Given the description of an element on the screen output the (x, y) to click on. 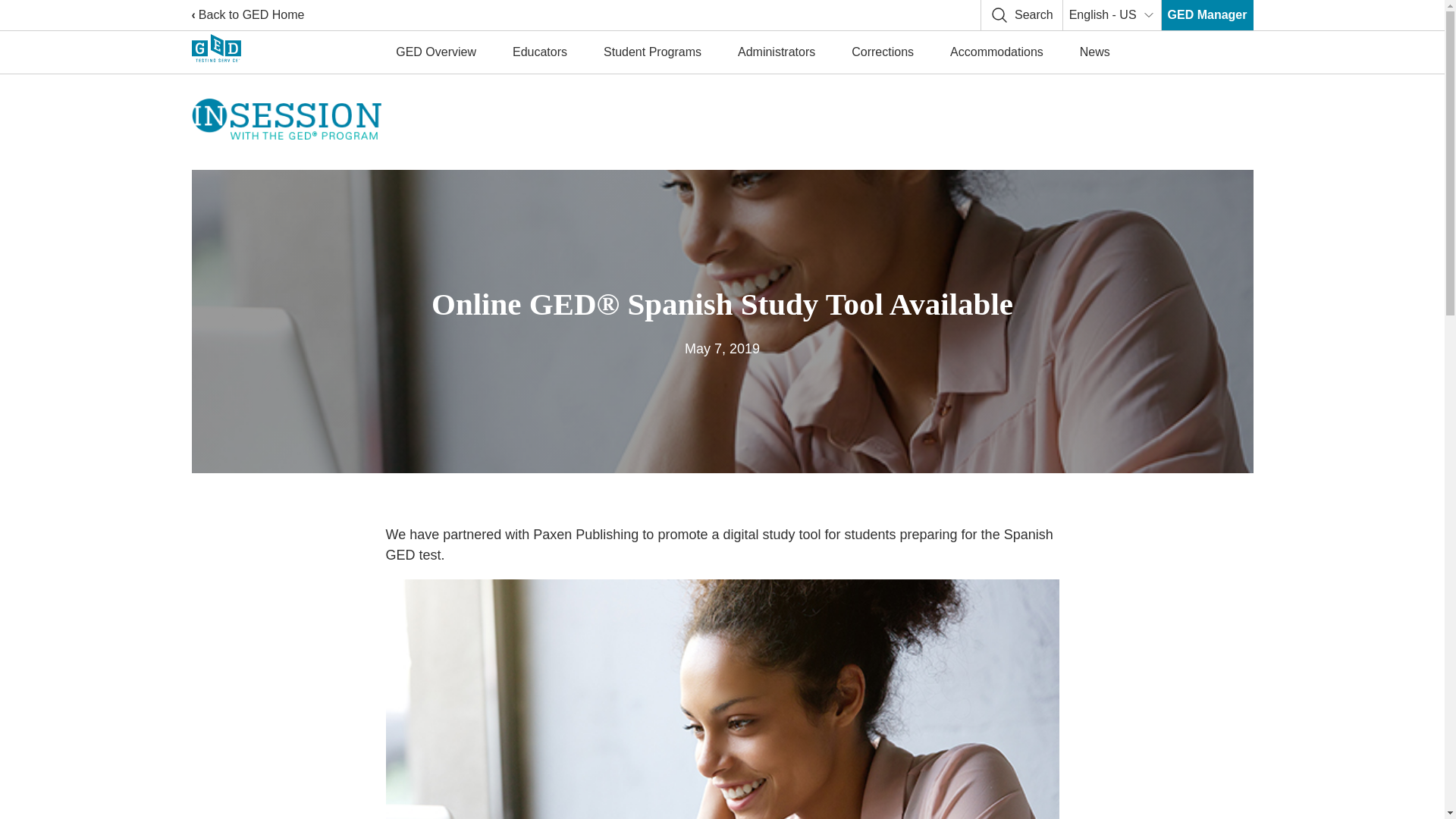
Educators (539, 52)
Back to GED Home (247, 14)
Administrators (775, 52)
Search (1021, 14)
English - US (1111, 14)
GED Overview (436, 52)
Student Programs (652, 52)
GED Manager (1207, 15)
